Given the description of an element on the screen output the (x, y) to click on. 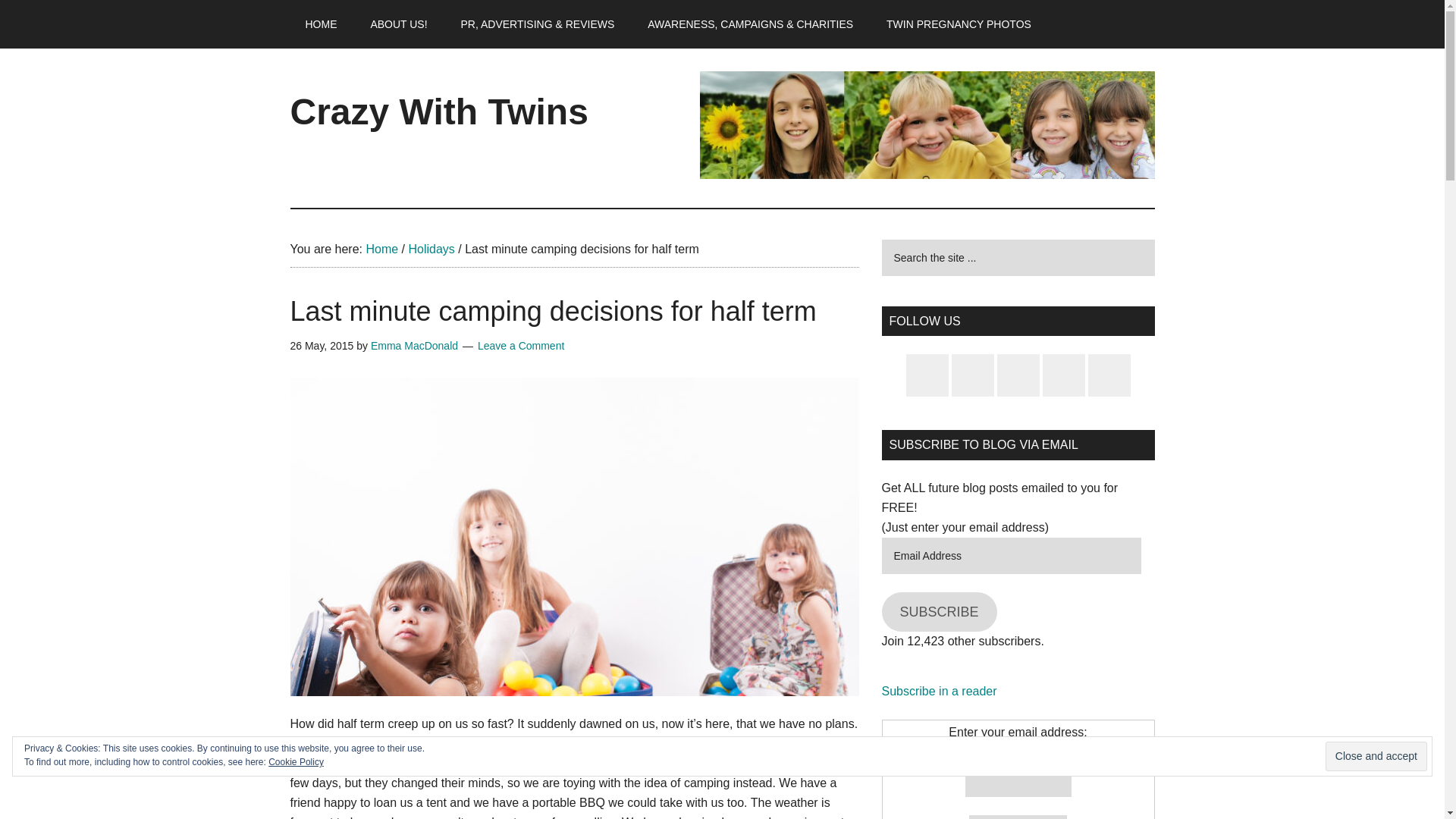
Home (381, 248)
Emma MacDonald (414, 345)
Leave a Comment (520, 345)
HOME (320, 24)
Crazy With Twins (438, 111)
Close and accept (1375, 756)
Holidays (430, 248)
Subscribe (1018, 816)
Subscribe to my feed (937, 690)
ABOUT US! (398, 24)
TWIN PREGNANCY PHOTOS (958, 24)
